Given the description of an element on the screen output the (x, y) to click on. 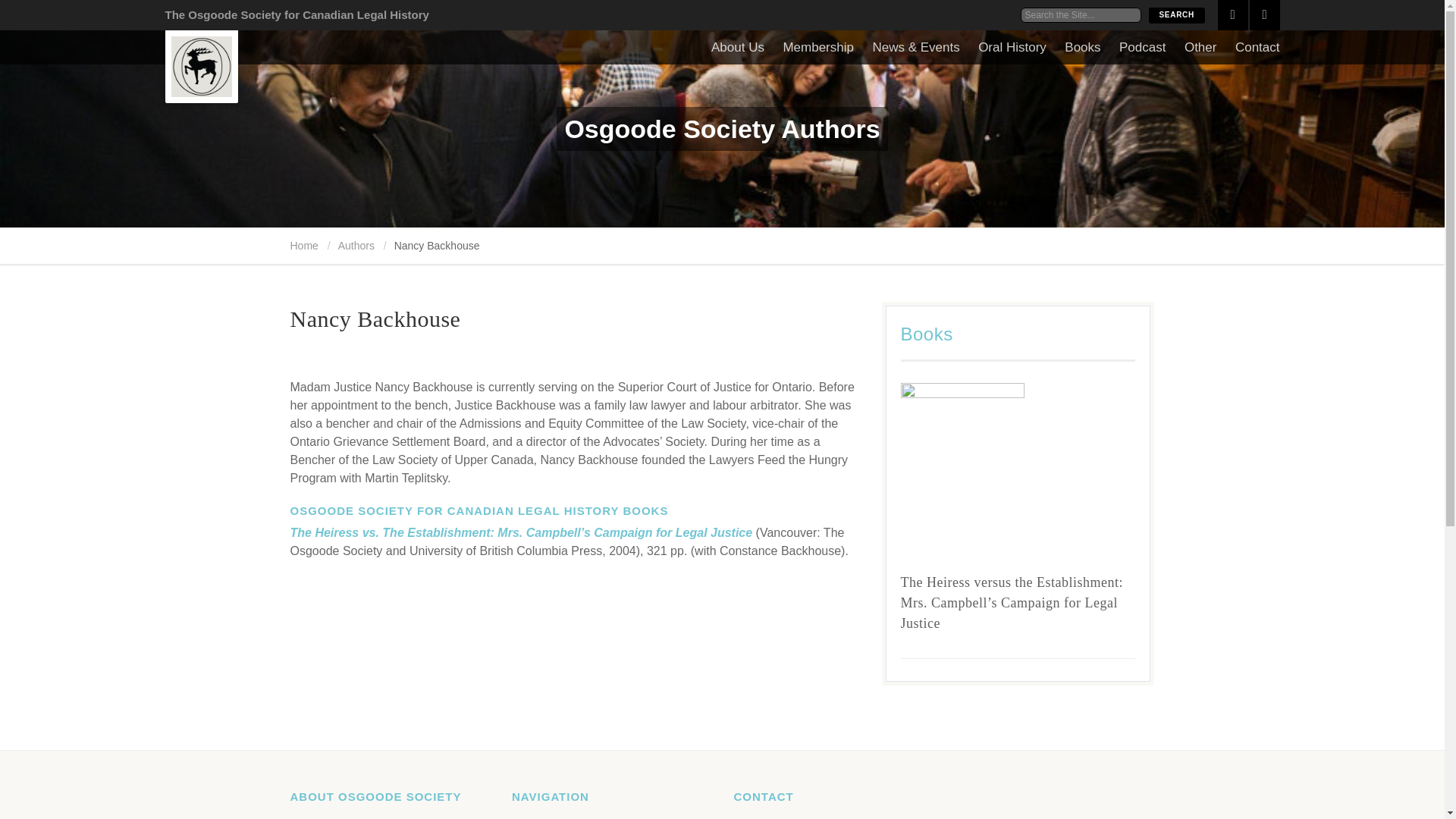
The Osgoode Society for Canadian Legal History (297, 14)
About Us (737, 47)
Authors (355, 245)
Membership (818, 47)
Search (1176, 15)
Podcast (1142, 47)
Oral History (1012, 47)
Home (303, 245)
Other (1201, 47)
Nancy Backhouse (374, 318)
